Given the description of an element on the screen output the (x, y) to click on. 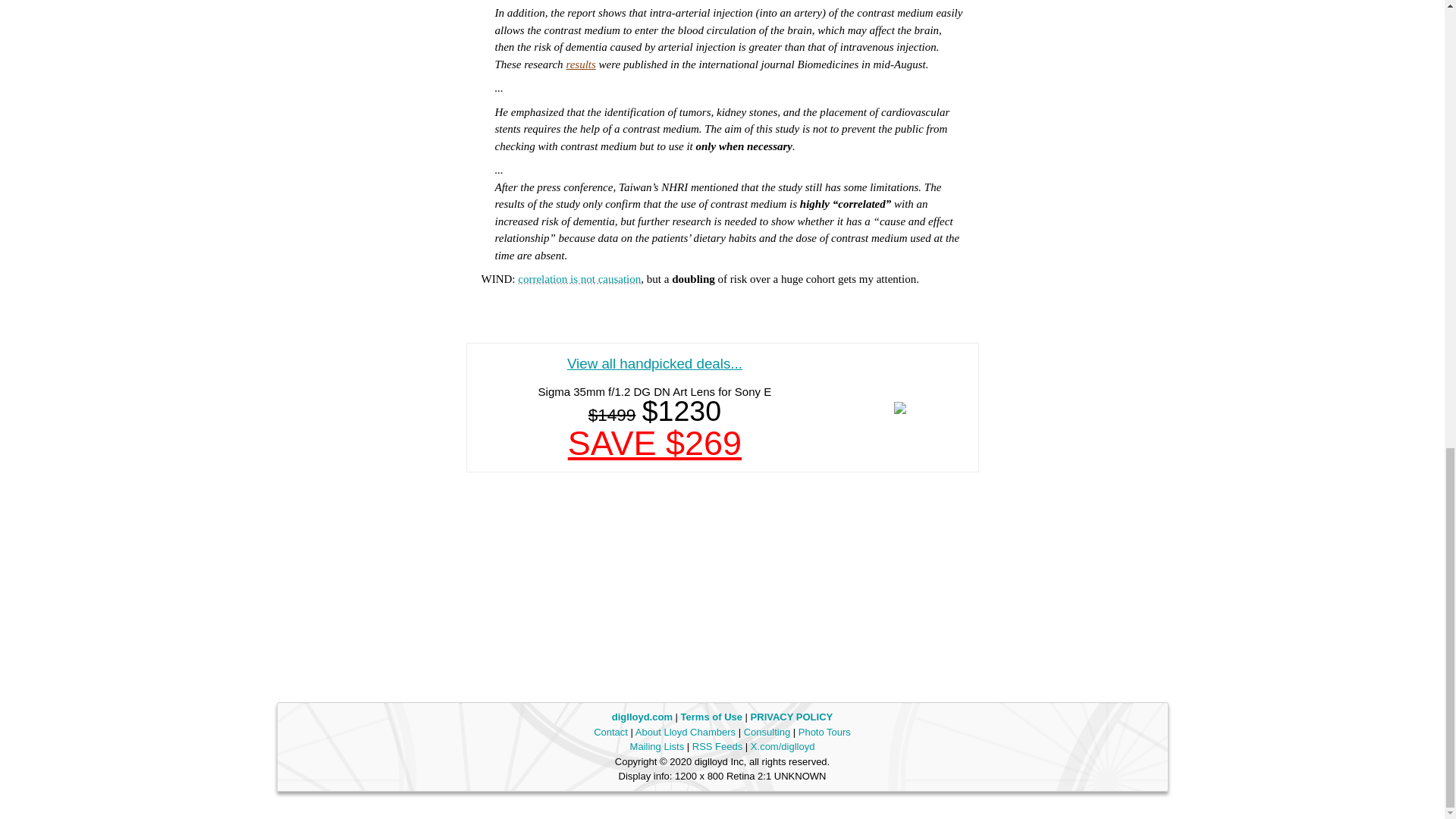
Terms of Use (711, 716)
diglloyd.com (643, 716)
results (580, 64)
correlation is not causation (579, 278)
View all handpicked deals... (654, 363)
PRIVACY POLICY (791, 716)
